Given the description of an element on the screen output the (x, y) to click on. 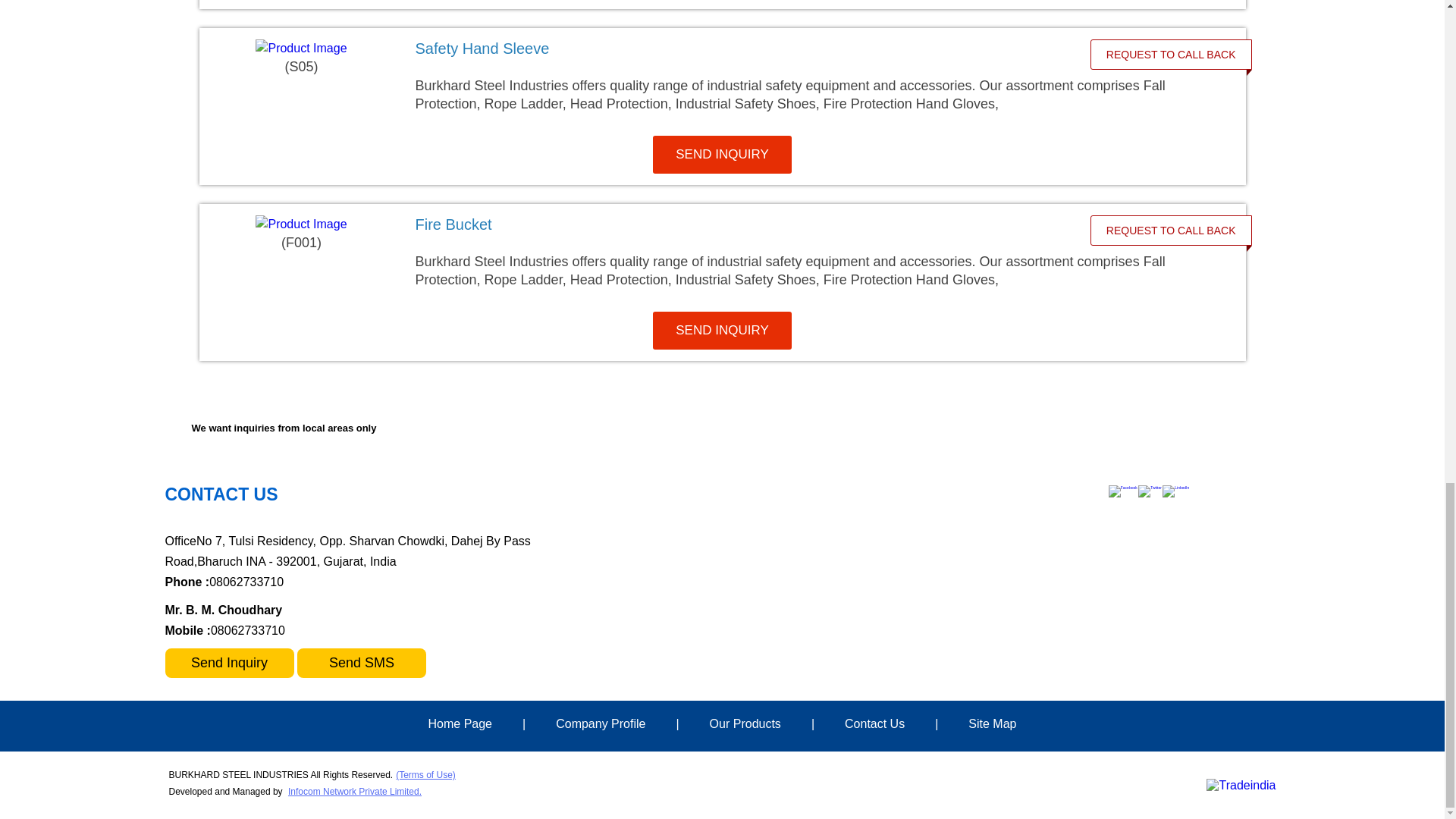
Safety Hand Sleeve (482, 48)
Facebook (1122, 487)
Twitter (1149, 487)
REQUEST TO CALL BACK (1170, 54)
LinkedIn (1175, 487)
Fire Bucket (453, 224)
SEND INQUIRY (722, 154)
Fire Bucket (742, 224)
Safety Hand Sleeve (742, 48)
